Given the description of an element on the screen output the (x, y) to click on. 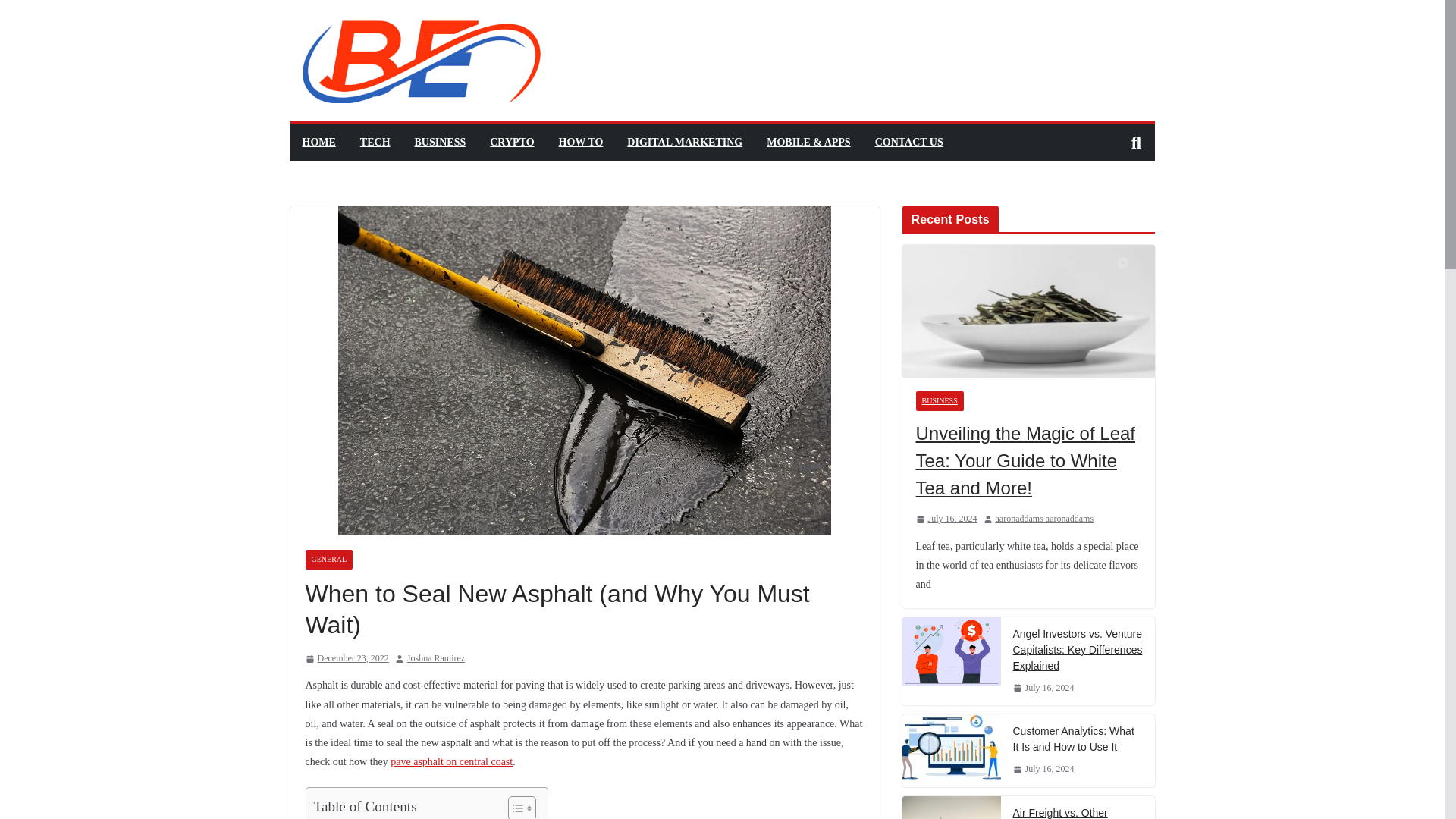
TECH (374, 142)
GENERAL (328, 559)
Joshua Ramirez (435, 658)
Joshua Ramirez (435, 658)
CONTACT US (909, 142)
December 23, 2022 (346, 658)
HOME (317, 142)
July 16, 2024 (945, 519)
BUSINESS (939, 401)
CRYPTO (511, 142)
DIGITAL MARKETING (684, 142)
10:41 am (346, 658)
BUSINESS (439, 142)
pave asphalt on central coast (451, 761)
